Given the description of an element on the screen output the (x, y) to click on. 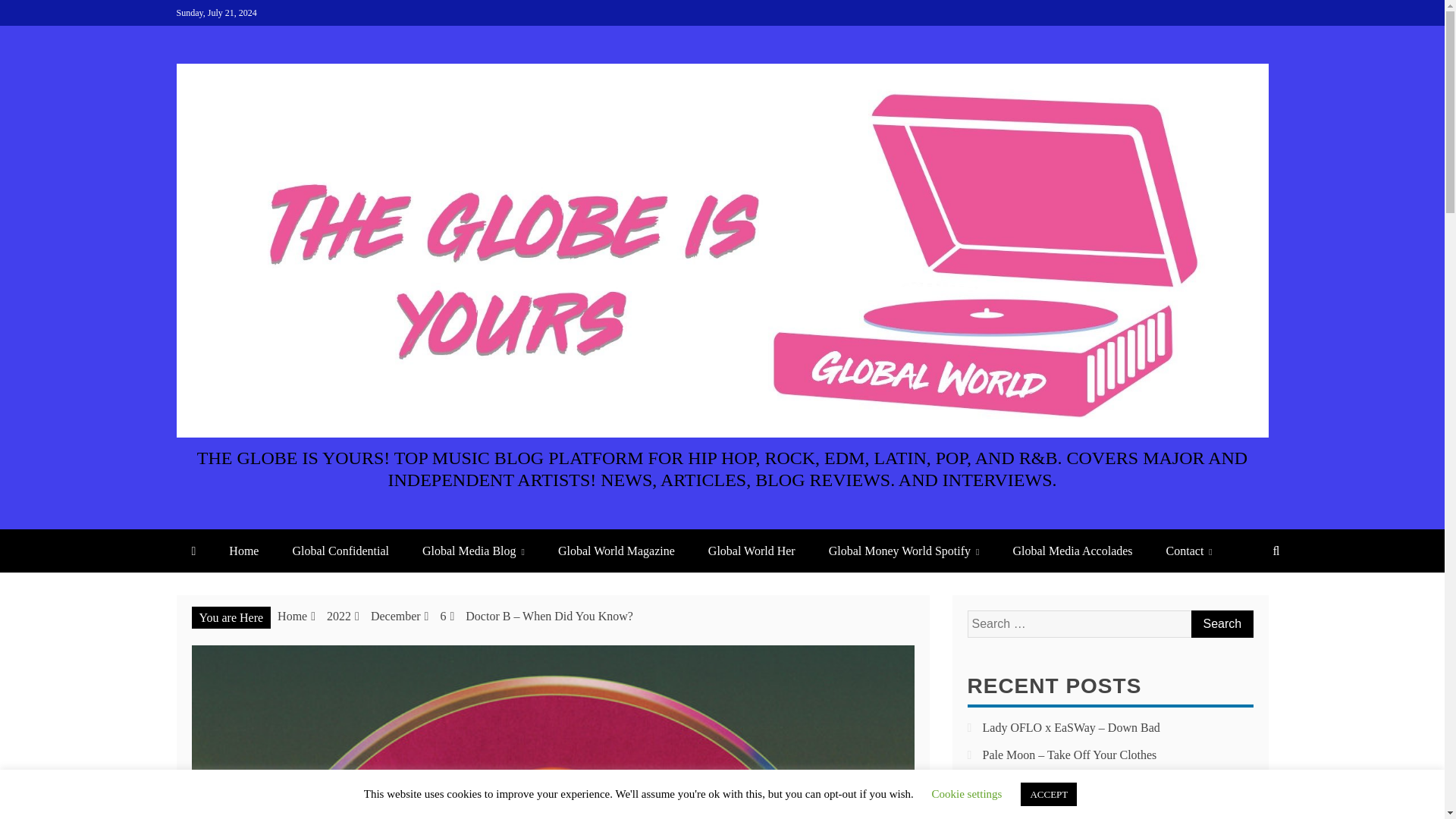
Global World Her (751, 550)
Global World Magazine (616, 550)
Global Money World Spotify (903, 550)
Home (243, 550)
Global Media Blog (473, 550)
Global Confidential (340, 550)
Contact (1189, 550)
Search (1221, 624)
Home (292, 615)
Global Media Accolades (1072, 550)
December (395, 615)
2022 (338, 615)
Search (1221, 624)
